Given the description of an element on the screen output the (x, y) to click on. 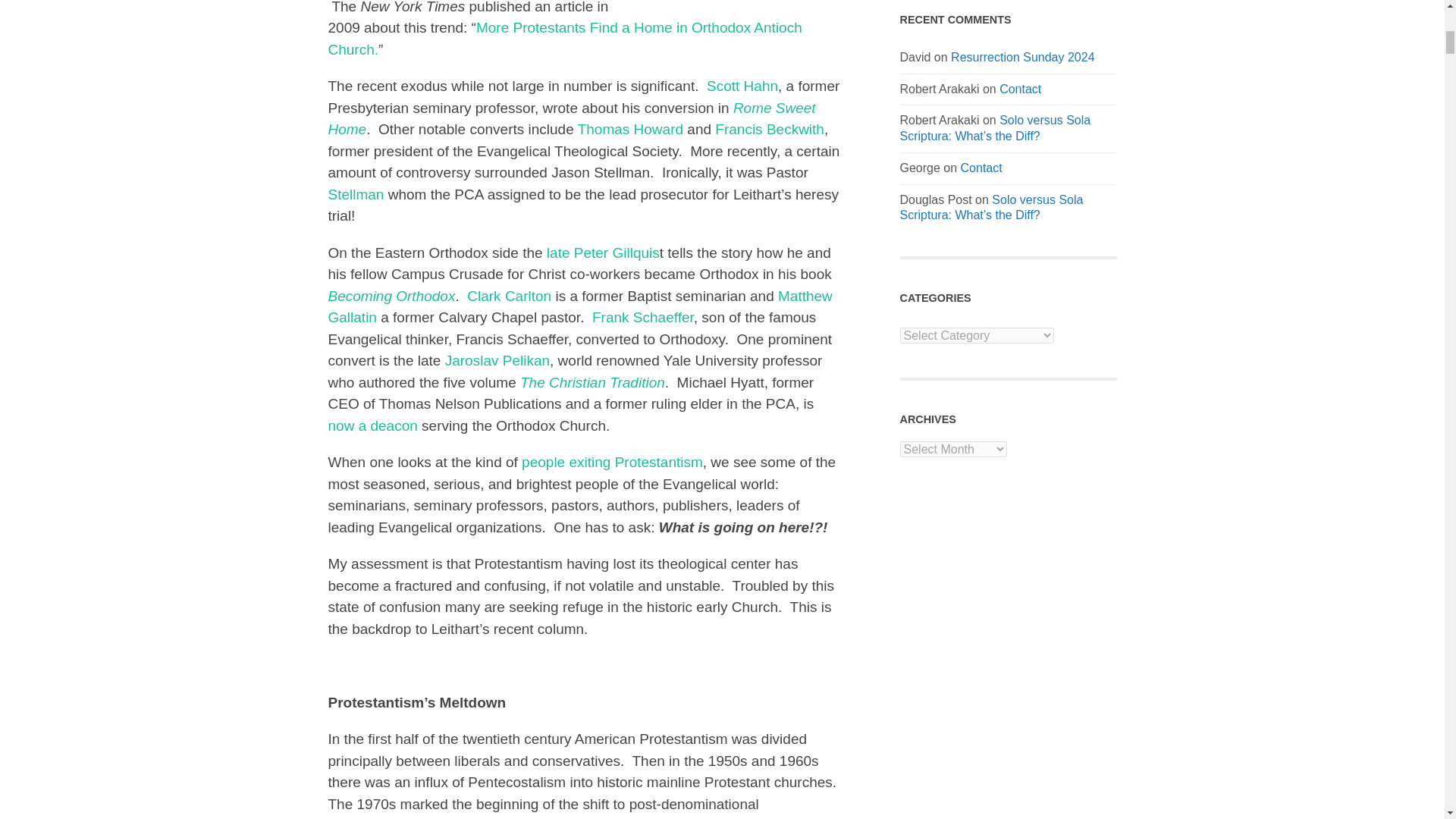
More Protestants Find a Home in Orthodox Antioch Church. (564, 38)
Stellman (355, 194)
Rome Sweet Home (571, 118)
late Peter Gillquis (603, 252)
Francis Beckwith (769, 129)
Thomas Howard (630, 129)
Scott Hahn (741, 85)
